Given the description of an element on the screen output the (x, y) to click on. 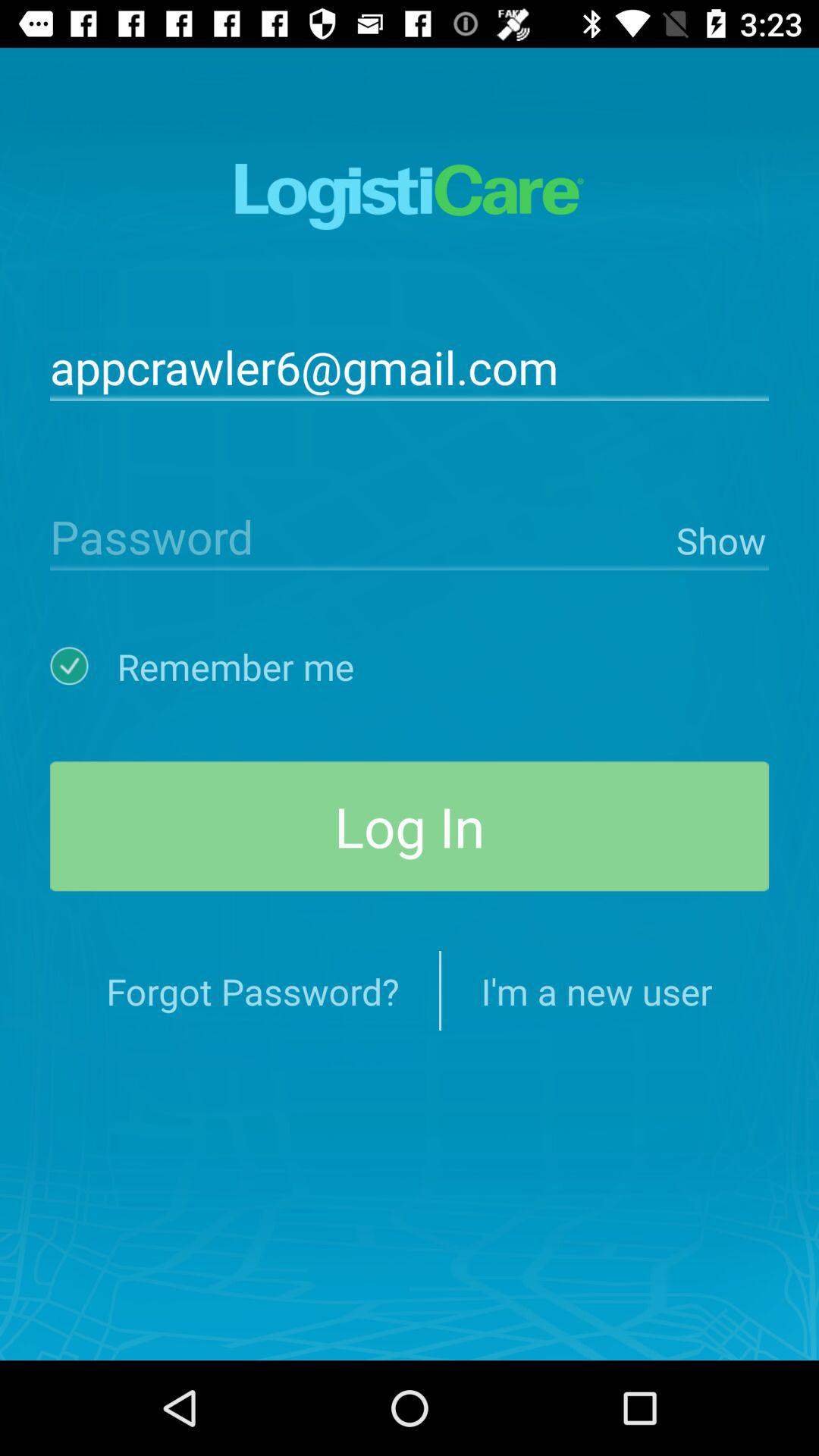
click the icon at the bottom right corner (596, 990)
